Given the description of an element on the screen output the (x, y) to click on. 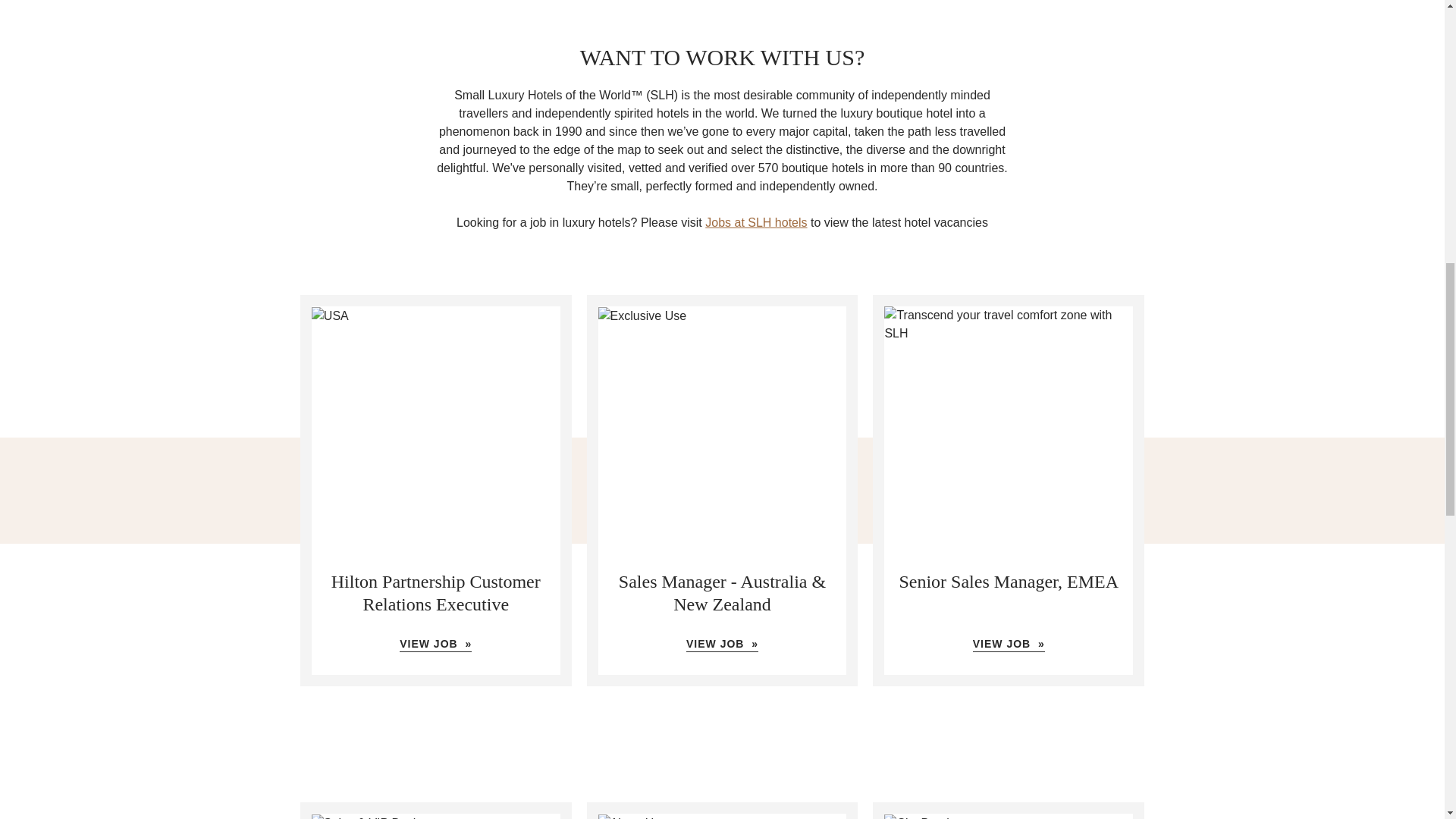
Jobs at SLH hotels (755, 222)
